Given the description of an element on the screen output the (x, y) to click on. 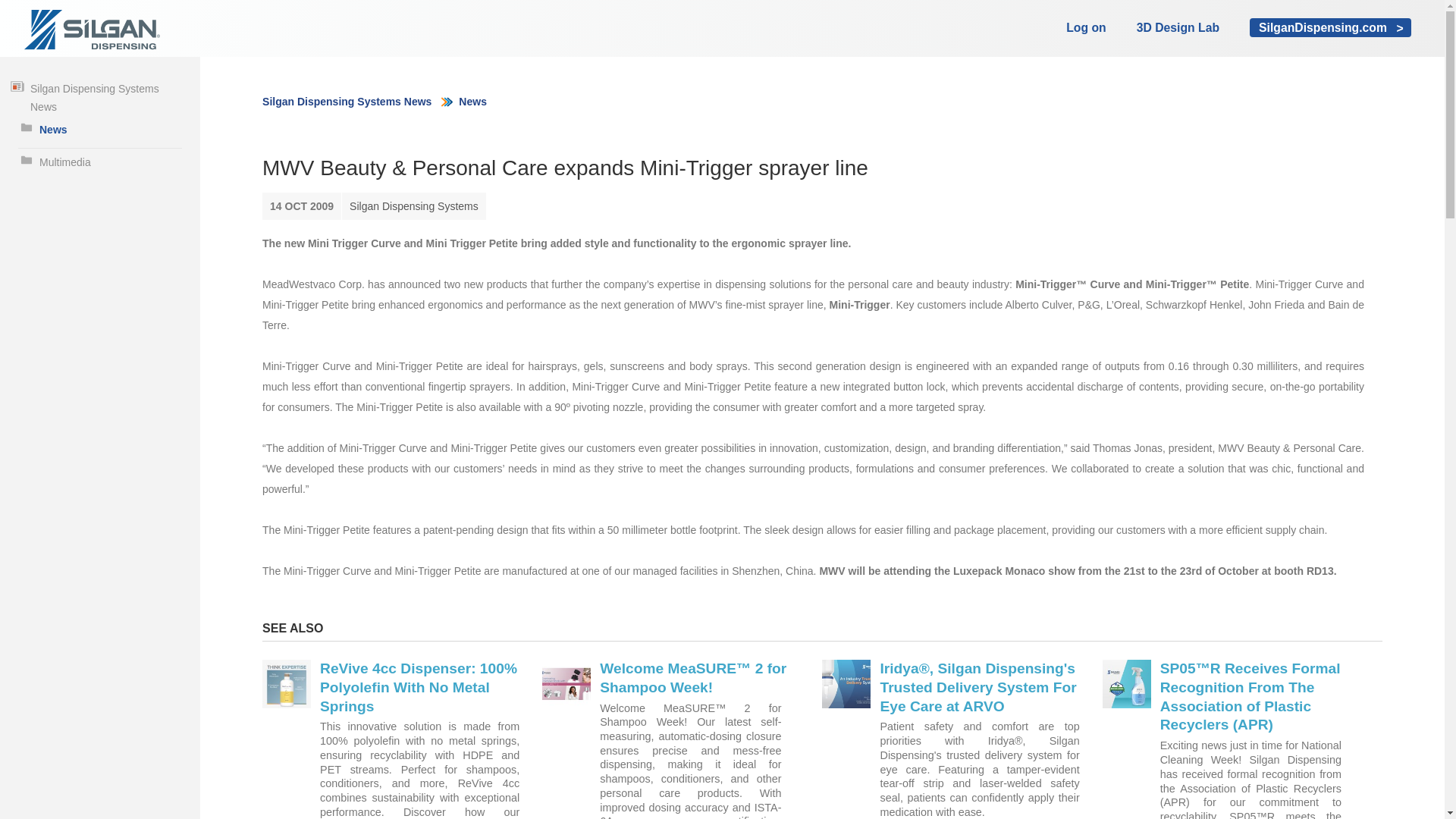
Silgan Dispensing Systems News (346, 101)
Multimedia (99, 162)
Log on (1085, 27)
Silgan Dispensing Systems News (95, 97)
News (472, 101)
News (99, 129)
SilganDispensing.com (1329, 27)
3D Design Lab (1178, 27)
